Given the description of an element on the screen output the (x, y) to click on. 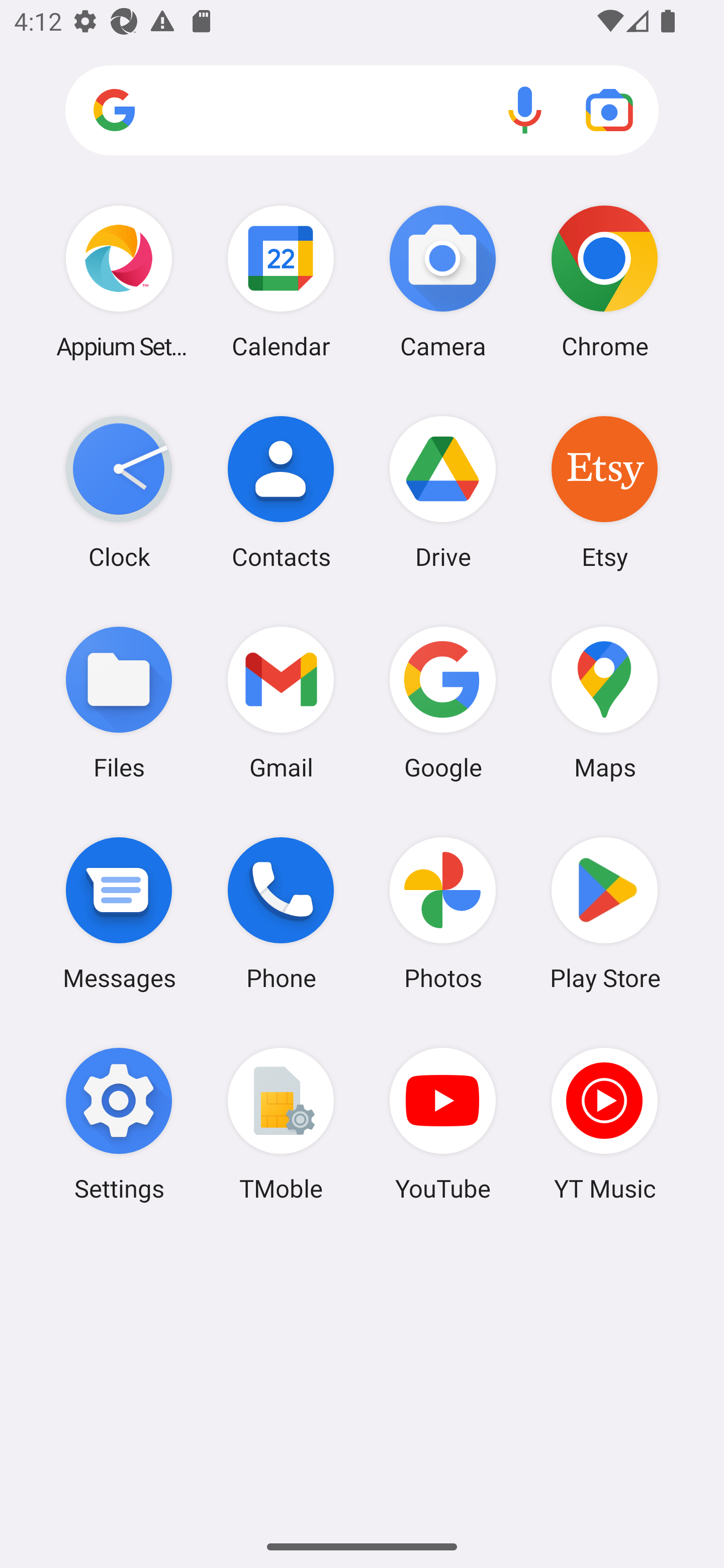
Search apps, web and more (361, 110)
Voice search (524, 109)
Google Lens (608, 109)
Appium Settings (118, 281)
Calendar (280, 281)
Camera (443, 281)
Chrome (604, 281)
Clock (118, 492)
Contacts (280, 492)
Drive (443, 492)
Etsy (604, 492)
Files (118, 702)
Gmail (280, 702)
Google (443, 702)
Maps (604, 702)
Messages (118, 913)
Phone (280, 913)
Photos (443, 913)
Play Store (604, 913)
Settings (118, 1124)
TMoble (280, 1124)
YouTube (443, 1124)
YT Music (604, 1124)
